Given the description of an element on the screen output the (x, y) to click on. 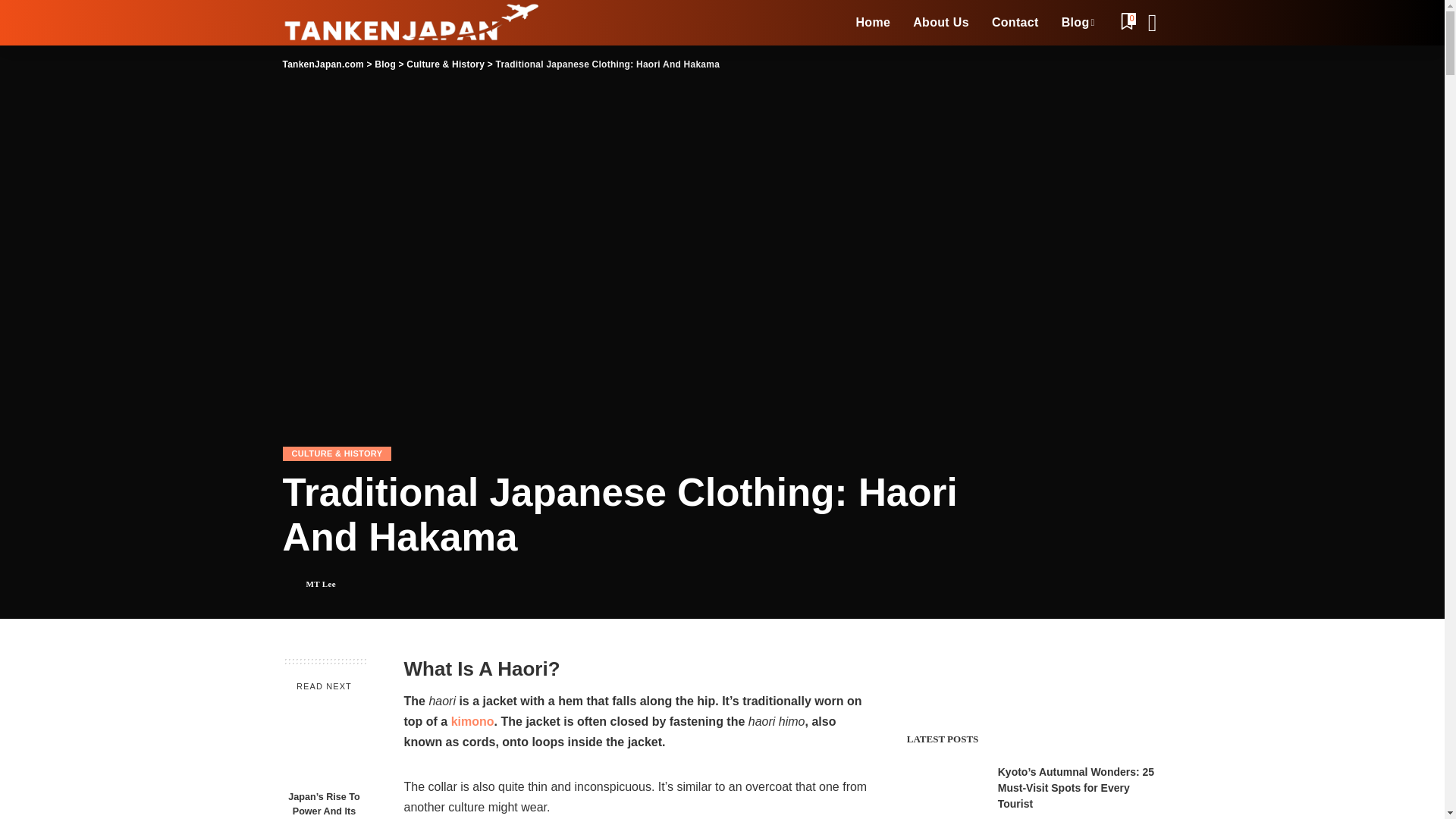
0 (1127, 22)
Blog (1077, 22)
TankenJapan.com (411, 22)
Home (872, 22)
Contact (1014, 22)
About Us (940, 22)
Go to TankenJapan.com. (322, 63)
Search (1140, 65)
Go to Blog. (385, 63)
Bookmarks (1127, 22)
